Given the description of an element on the screen output the (x, y) to click on. 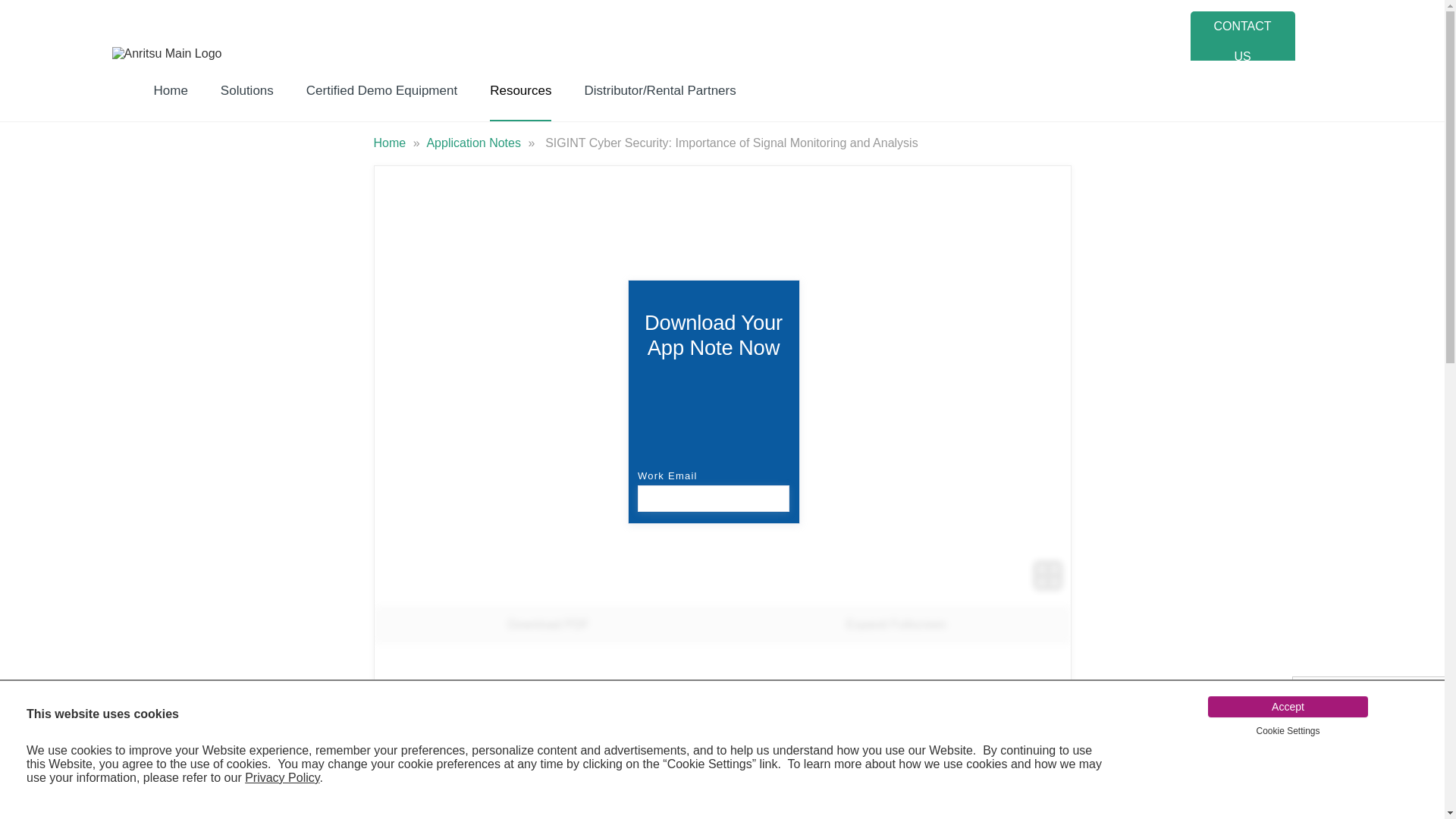
Home (390, 142)
CONTACT US (1243, 41)
Accept (1288, 706)
Solutions (247, 90)
Cookie Settings (1287, 730)
Privacy Policy (281, 777)
Resources (520, 90)
Certified Demo Equipment (381, 90)
Application Notes (475, 142)
